Given the description of an element on the screen output the (x, y) to click on. 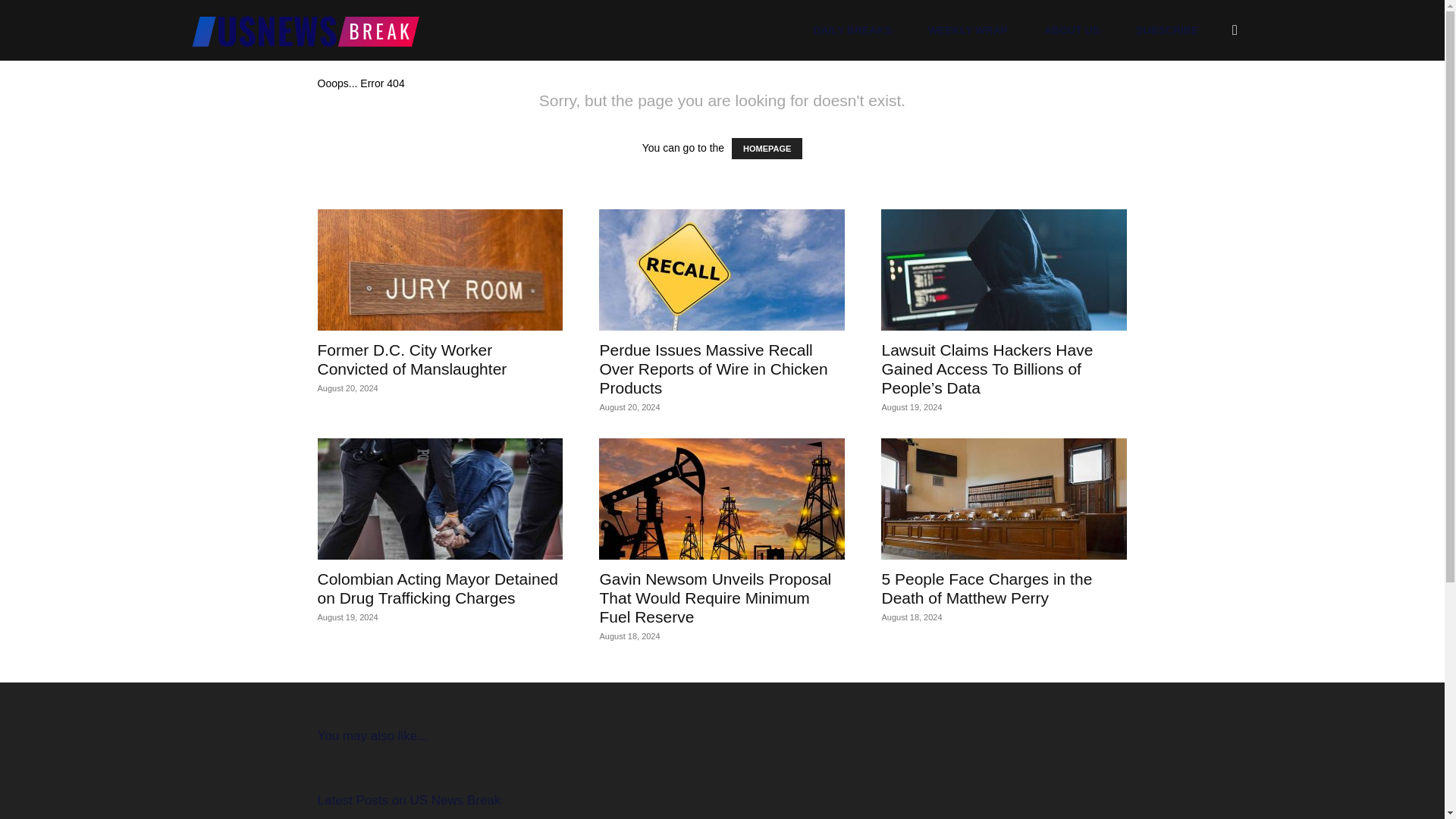
Colombian Acting Mayor Detained on Drug Trafficking Charges (437, 588)
5 People Face Charges in the Death of Matthew Perry (1003, 498)
WEEKLY WRAP (968, 30)
Colombian Acting Mayor Detained on Drug Trafficking Charges (439, 498)
DAILY BREAKS (851, 30)
